Given the description of an element on the screen output the (x, y) to click on. 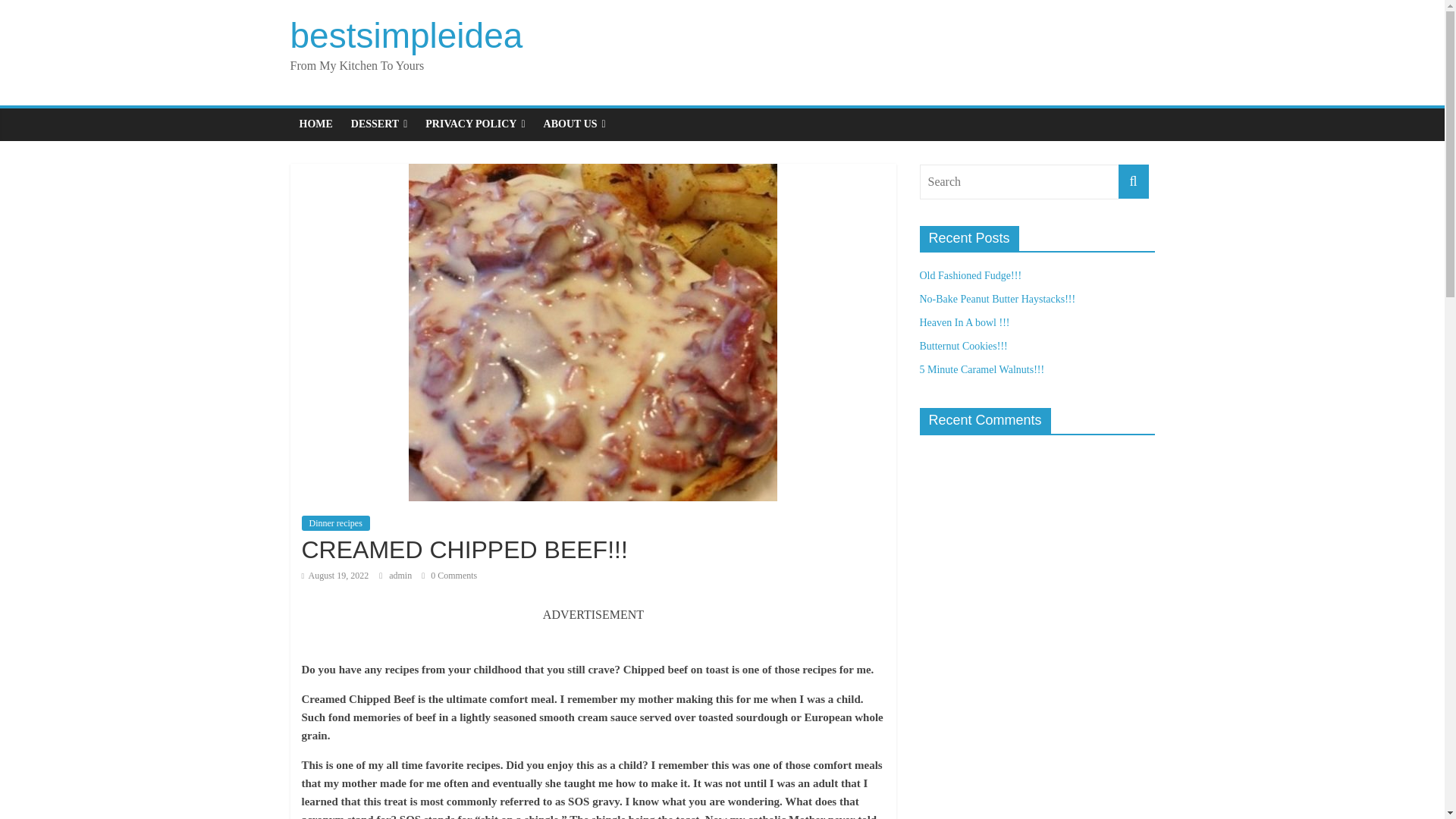
5 Minute Caramel Walnuts!!! (980, 369)
Heaven In A bowl !!! (963, 322)
bestsimpleidea (405, 35)
DESSERT (379, 124)
bestsimpleidea (405, 35)
admin (400, 575)
Dinner recipes (335, 522)
admin (400, 575)
9:43 am (335, 575)
PRIVACY POLICY (475, 124)
0 Comments (449, 575)
No-Bake Peanut Butter Haystacks!!! (996, 298)
Butternut Cookies!!! (962, 346)
August 19, 2022 (335, 575)
Old Fashioned Fudge!!! (970, 275)
